Given the description of an element on the screen output the (x, y) to click on. 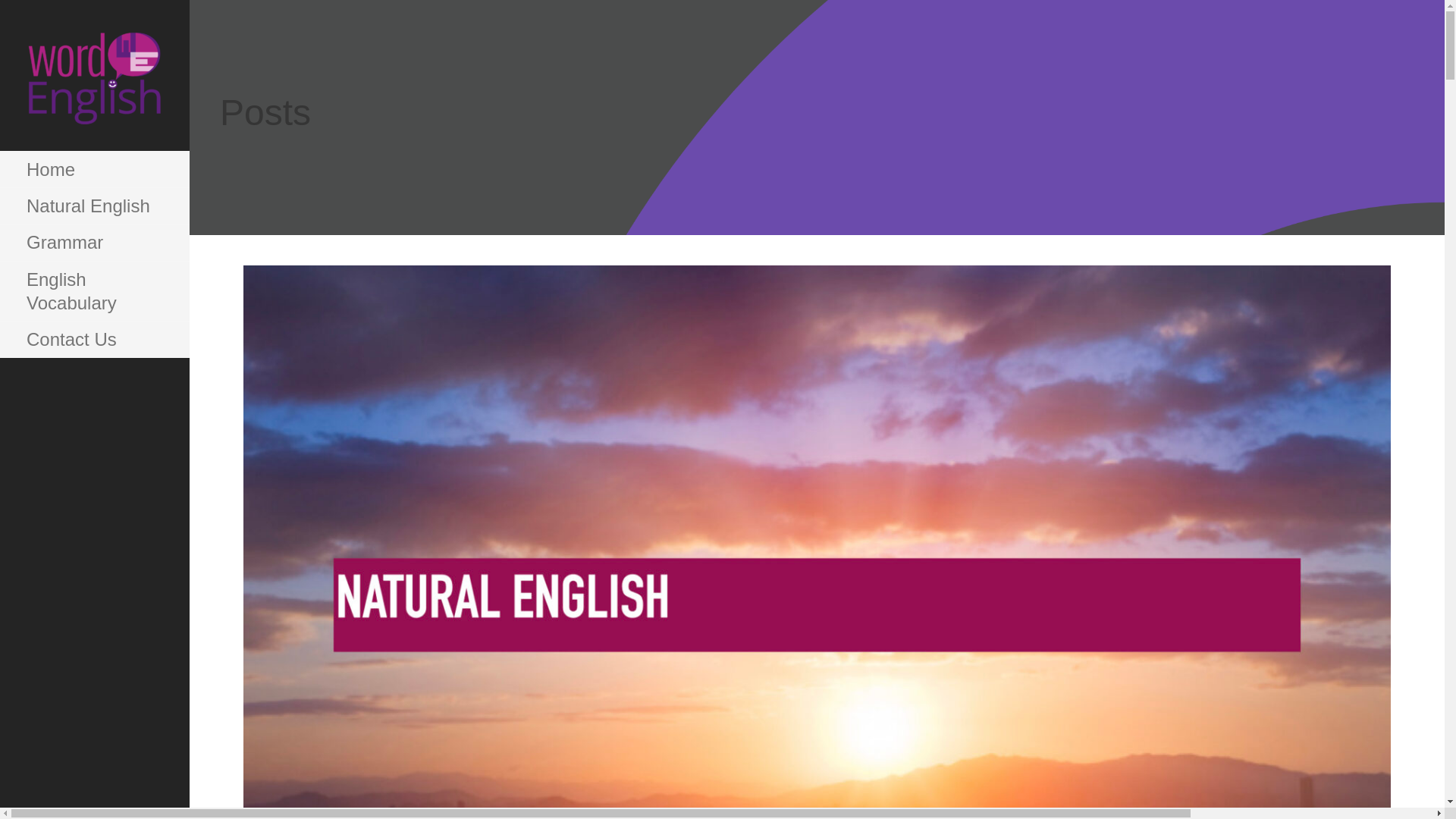
Grammar (94, 242)
WORD ENGLISH (108, 149)
Search (50, 18)
Natural English (94, 206)
Home (94, 169)
English Vocabulary (94, 291)
Contact Us (94, 339)
